Given the description of an element on the screen output the (x, y) to click on. 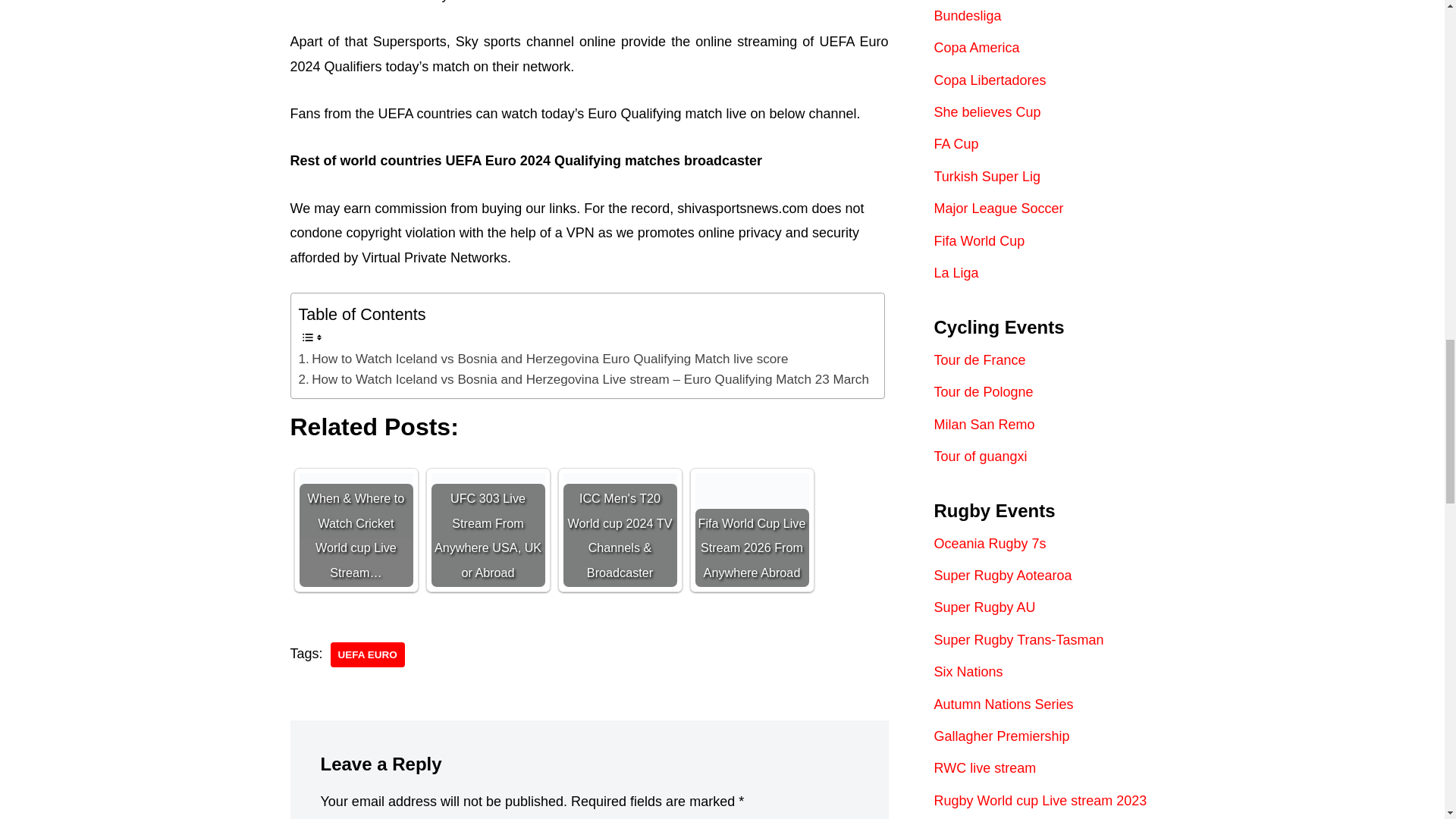
Fifa World Cup Live Stream 2026 From Anywhere Abroad (751, 530)
UFC 303 Live Stream From Anywhere USA, UK or Abroad (487, 530)
UFC 303 Live Stream From Anywhere USA, UK or Abroad (487, 530)
Fifa World Cup Live Stream 2026 From Anywhere Abroad (751, 530)
UEFA Euro (367, 655)
